Given the description of an element on the screen output the (x, y) to click on. 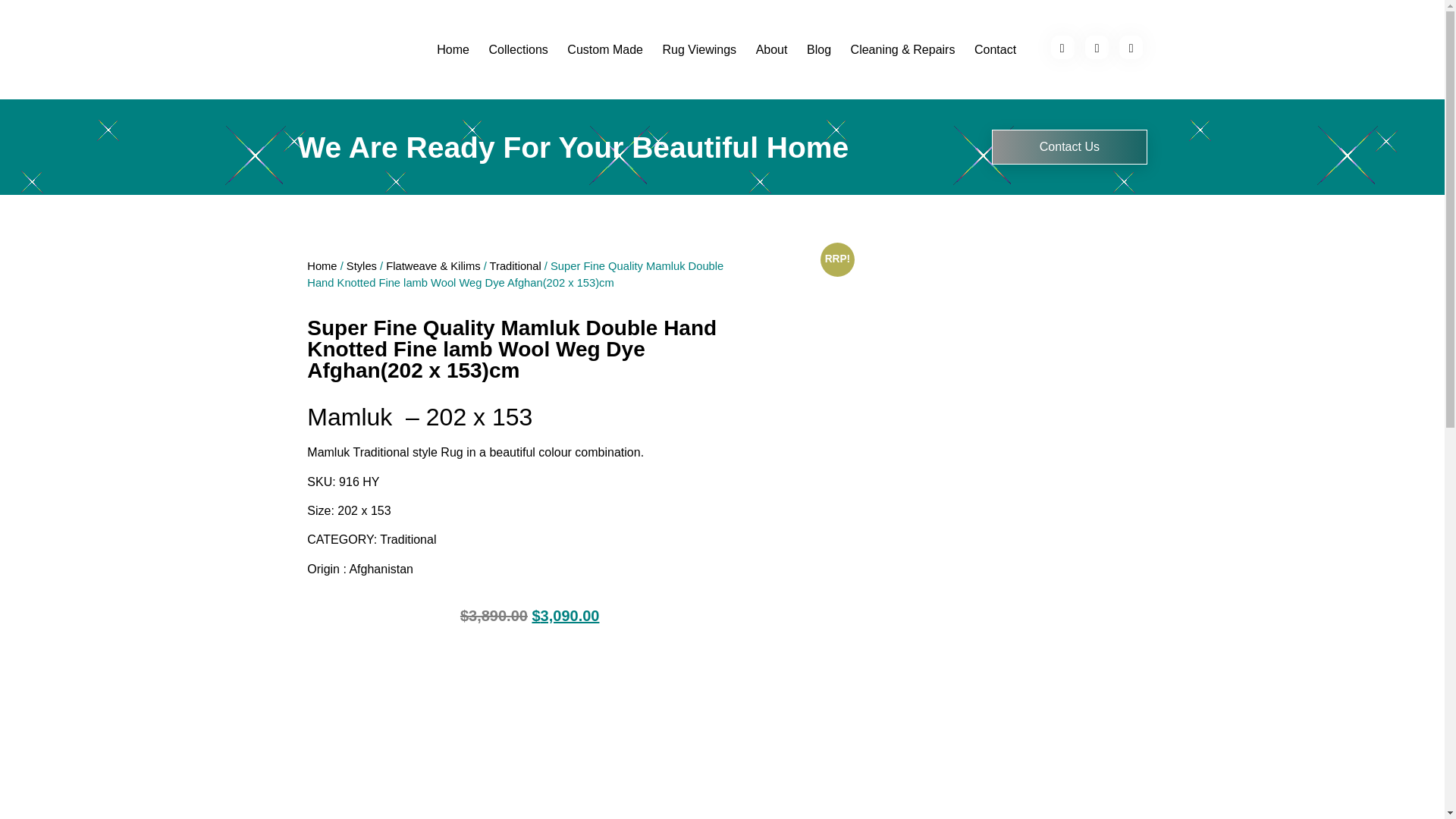
About (770, 49)
Contact (994, 49)
Custom Made (604, 49)
Blog (818, 49)
Home (453, 49)
Rug Viewings (698, 49)
Collections (518, 49)
